Given the description of an element on the screen output the (x, y) to click on. 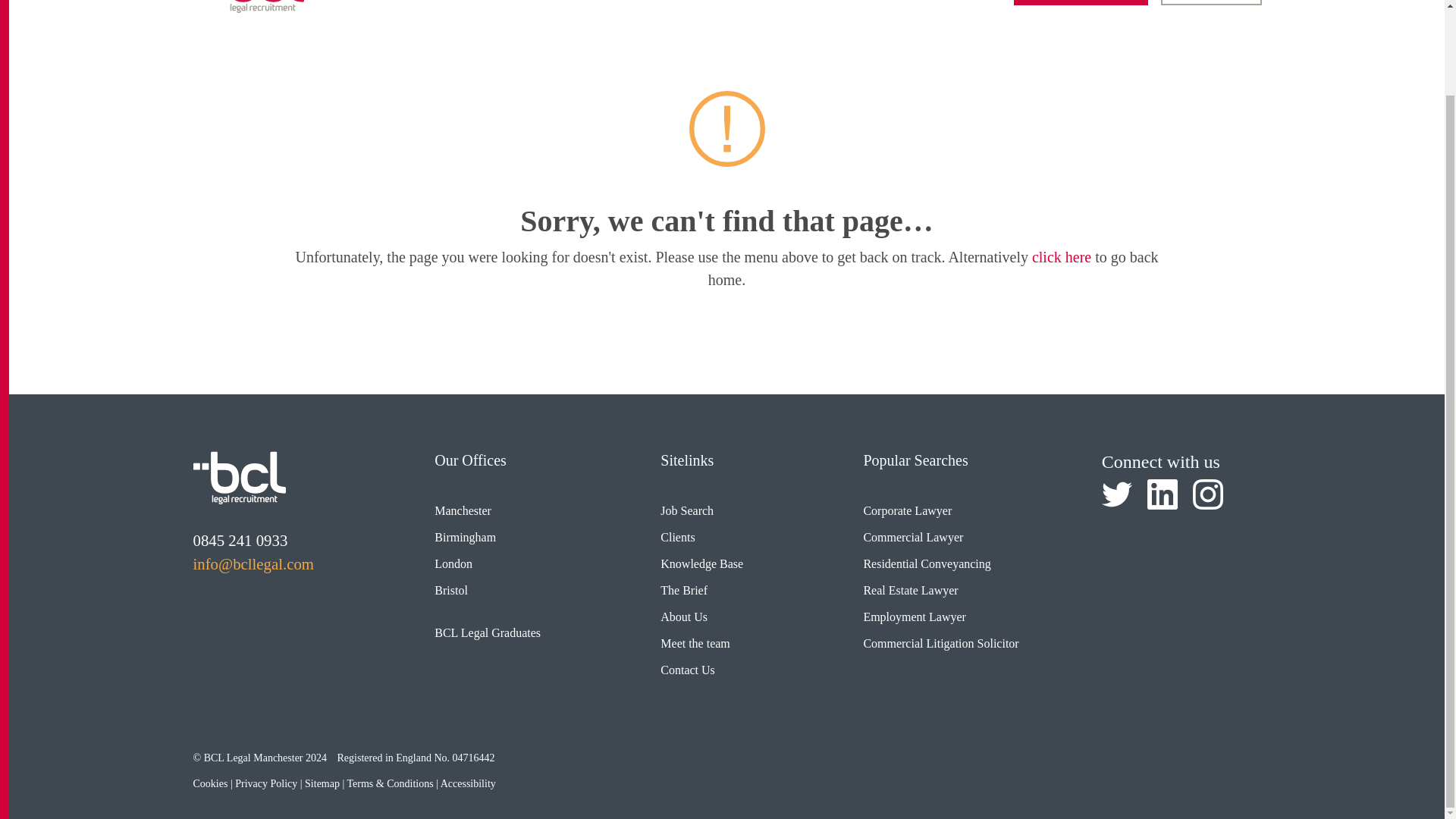
Clients (764, 0)
Knowledge Base (859, 0)
Job Search (684, 0)
BCL Legal Recruitment (238, 477)
BCL Legal on Twitter (1117, 494)
BCL Legal on LinkedIn (1162, 494)
SEND YOUR CV (1080, 2)
The Brief (967, 0)
BRIEF US (1210, 2)
BCL Legal on Instagram (1207, 494)
